Given the description of an element on the screen output the (x, y) to click on. 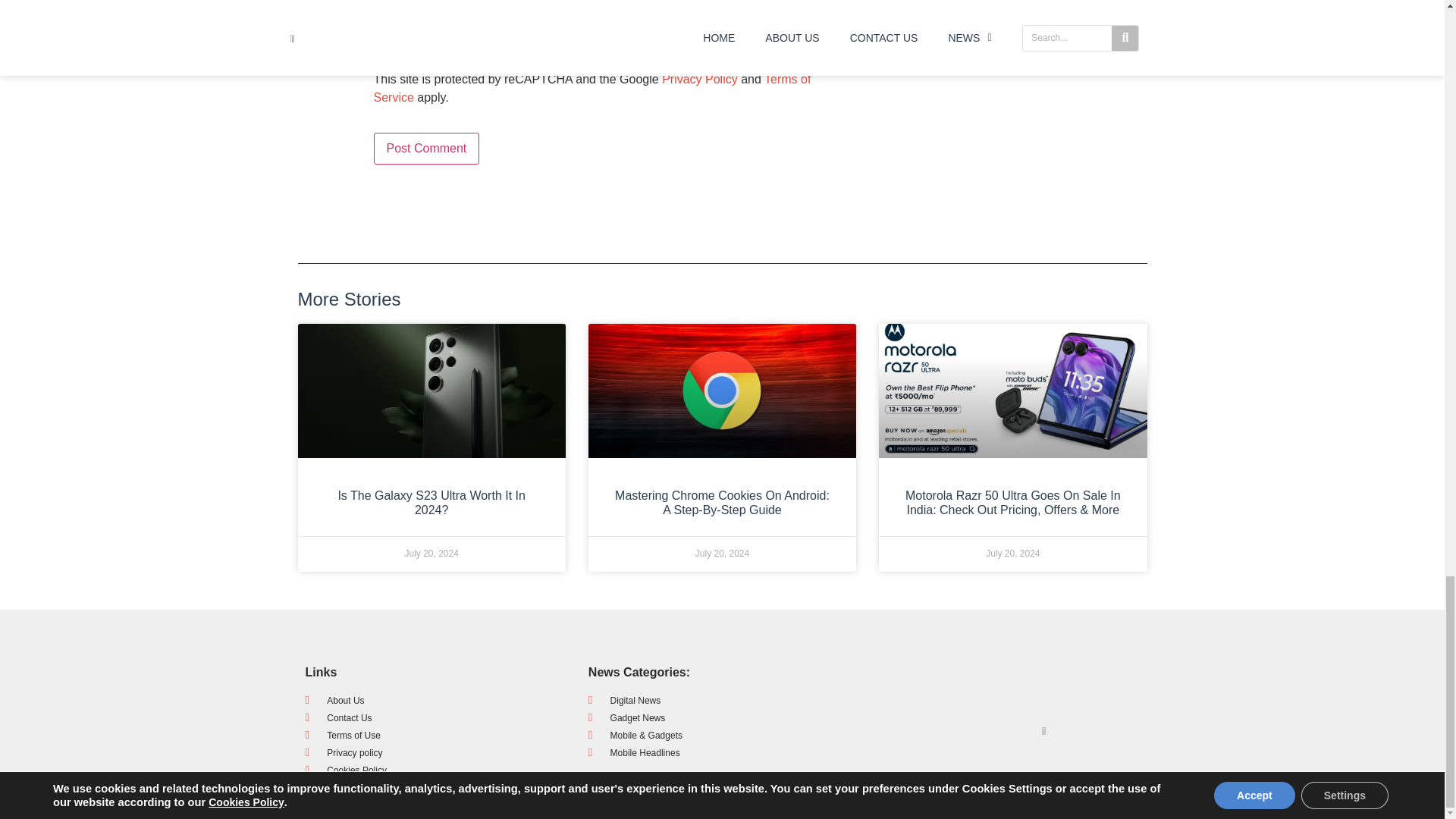
Post Comment (425, 148)
yes (377, 49)
